Given the description of an element on the screen output the (x, y) to click on. 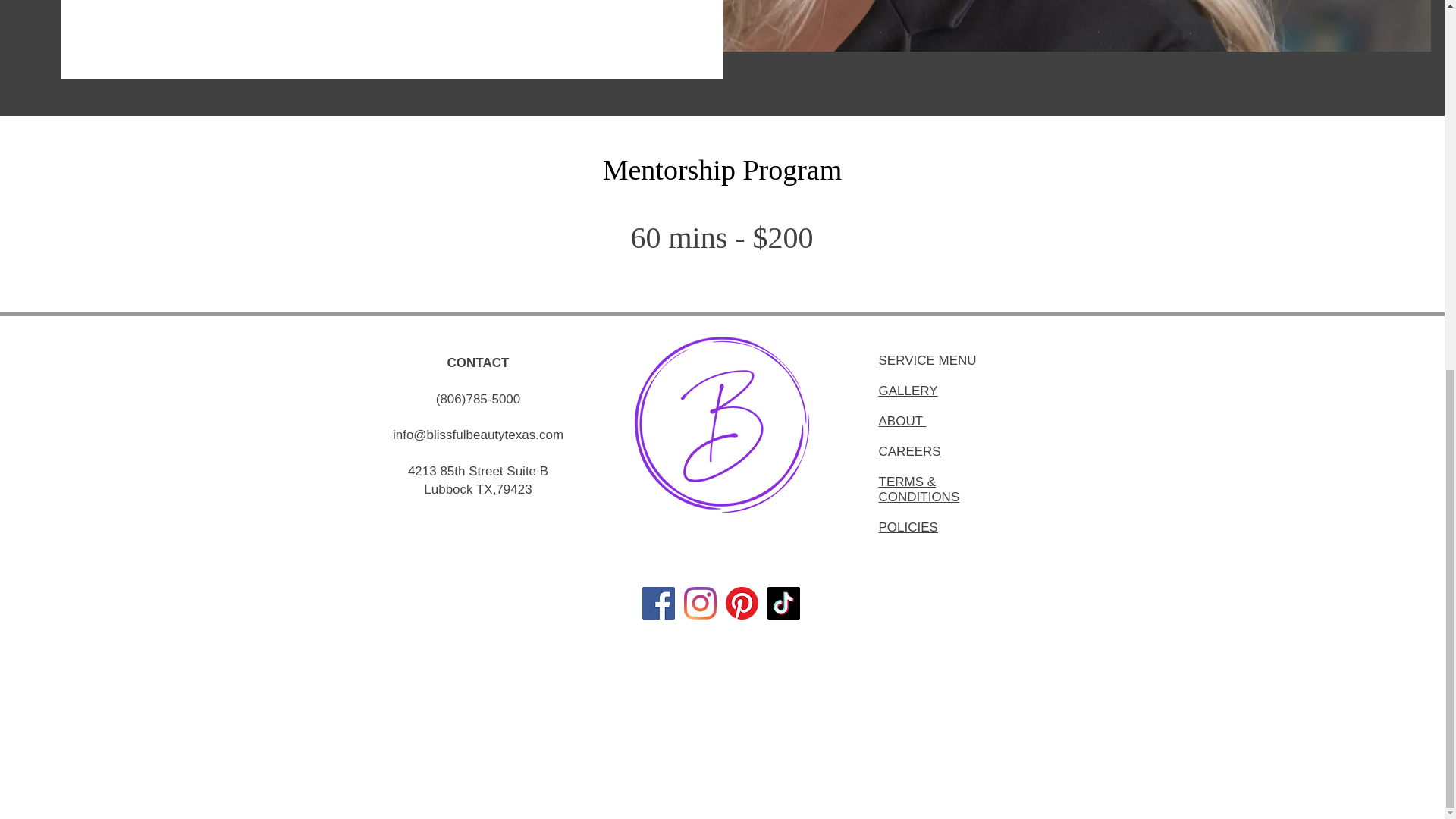
POLICIES (907, 527)
GALLERY (907, 391)
ABOUT  (901, 421)
CAREERS (908, 451)
SERVICE MENU (926, 359)
